Given the description of an element on the screen output the (x, y) to click on. 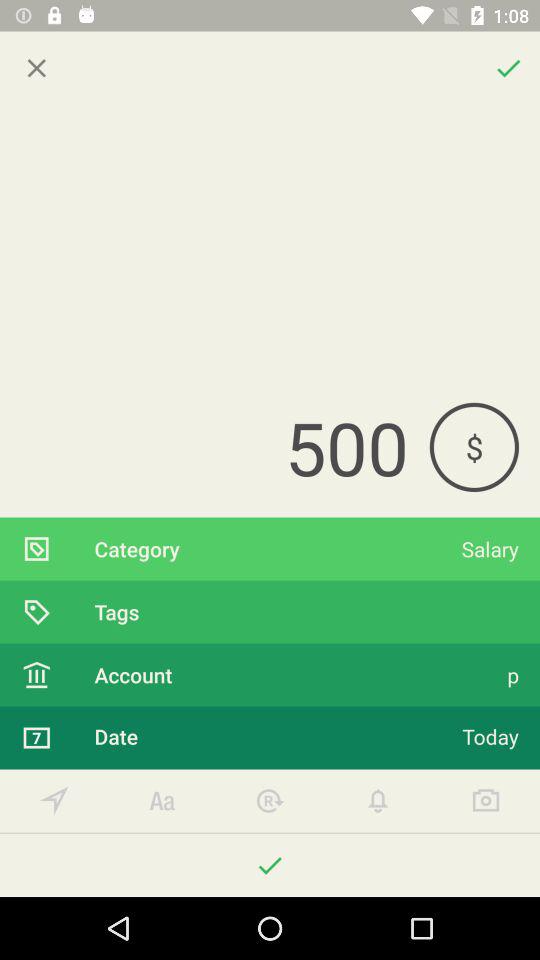
swipe to the 500 (214, 447)
